Given the description of an element on the screen output the (x, y) to click on. 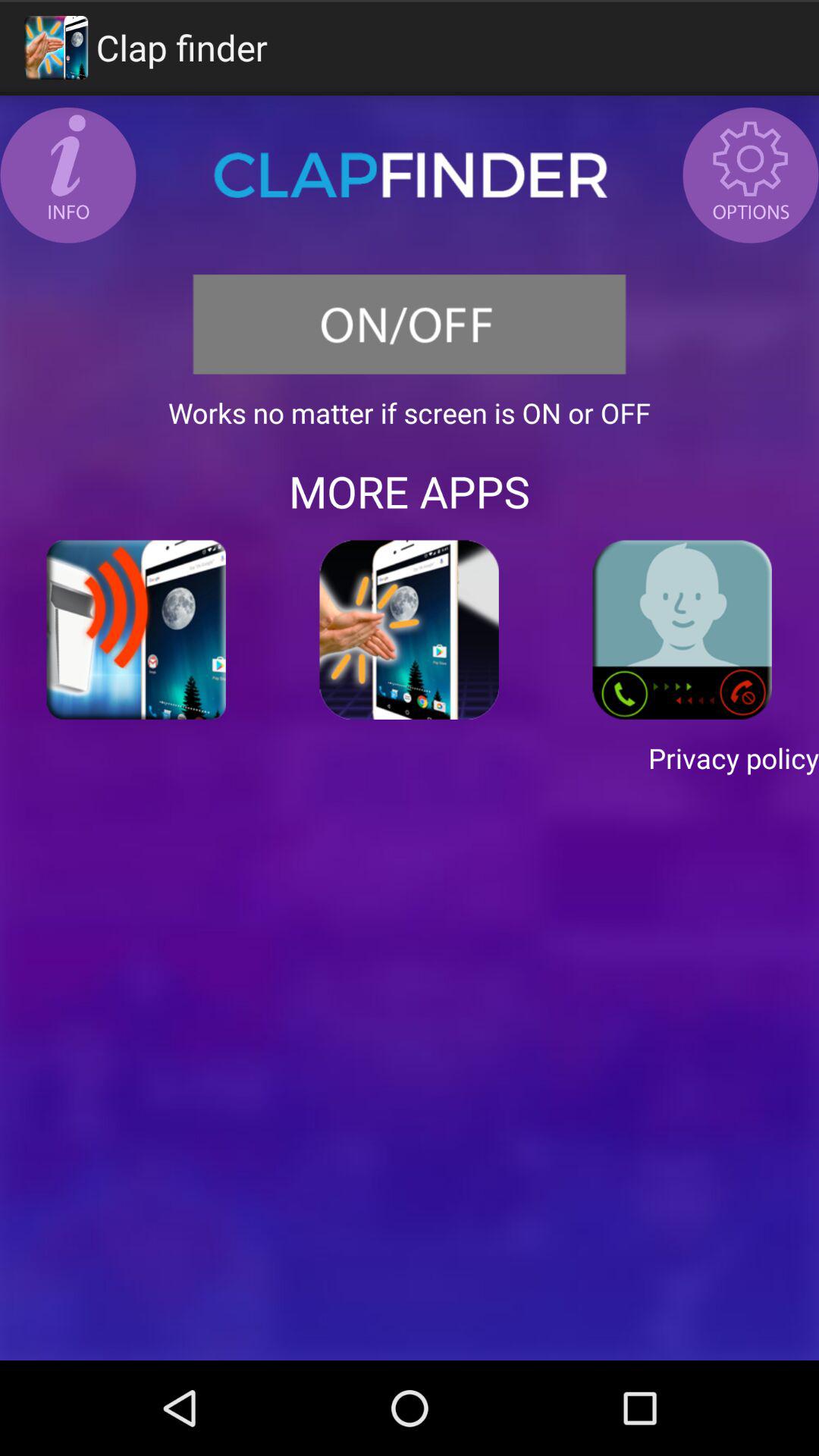
calling (682, 629)
